Given the description of an element on the screen output the (x, y) to click on. 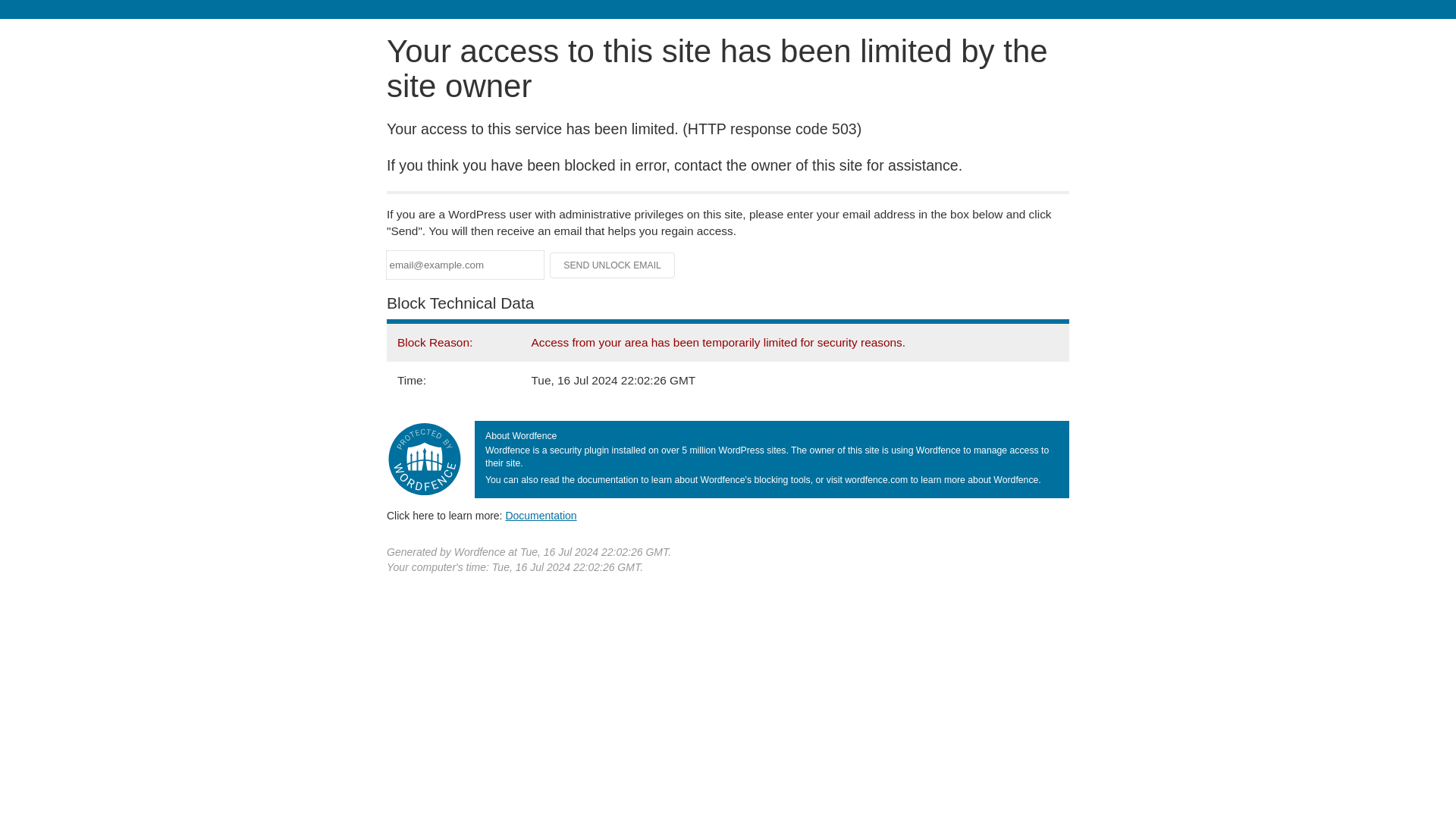
Send Unlock Email (612, 265)
Documentation (540, 515)
Send Unlock Email (612, 265)
